Given the description of an element on the screen output the (x, y) to click on. 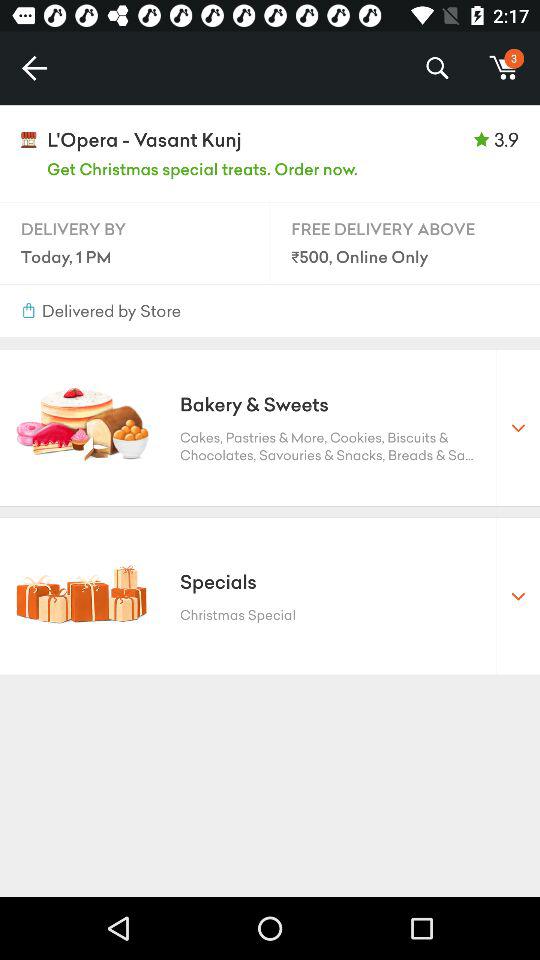
turn on m icon (503, 67)
